Given the description of an element on the screen output the (x, y) to click on. 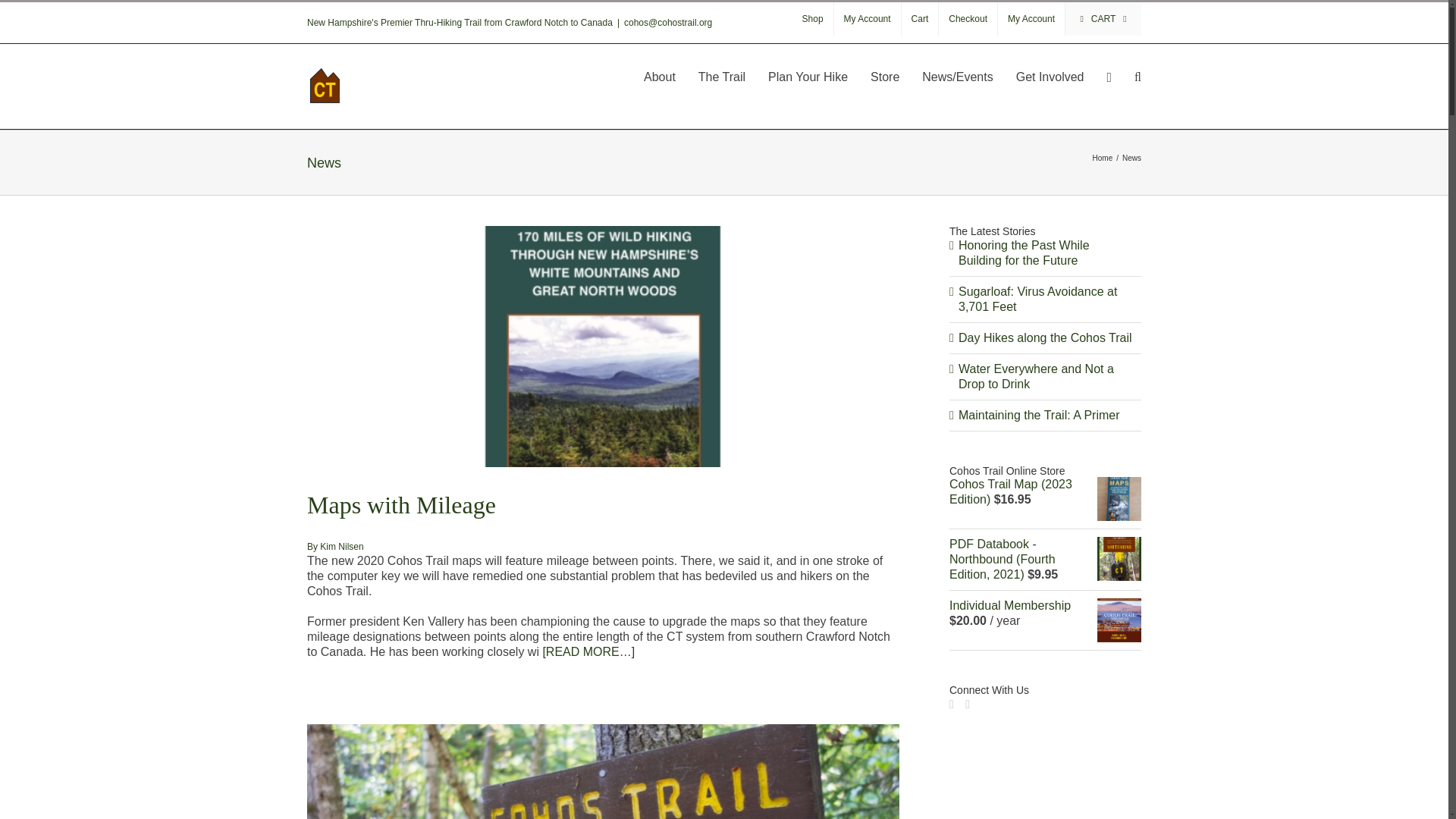
My Account (1030, 19)
Shop (812, 19)
Plan Your Hike (807, 75)
CART (1103, 19)
My Account (867, 19)
Log In (1029, 227)
Checkout (968, 19)
Cart (920, 19)
